Given the description of an element on the screen output the (x, y) to click on. 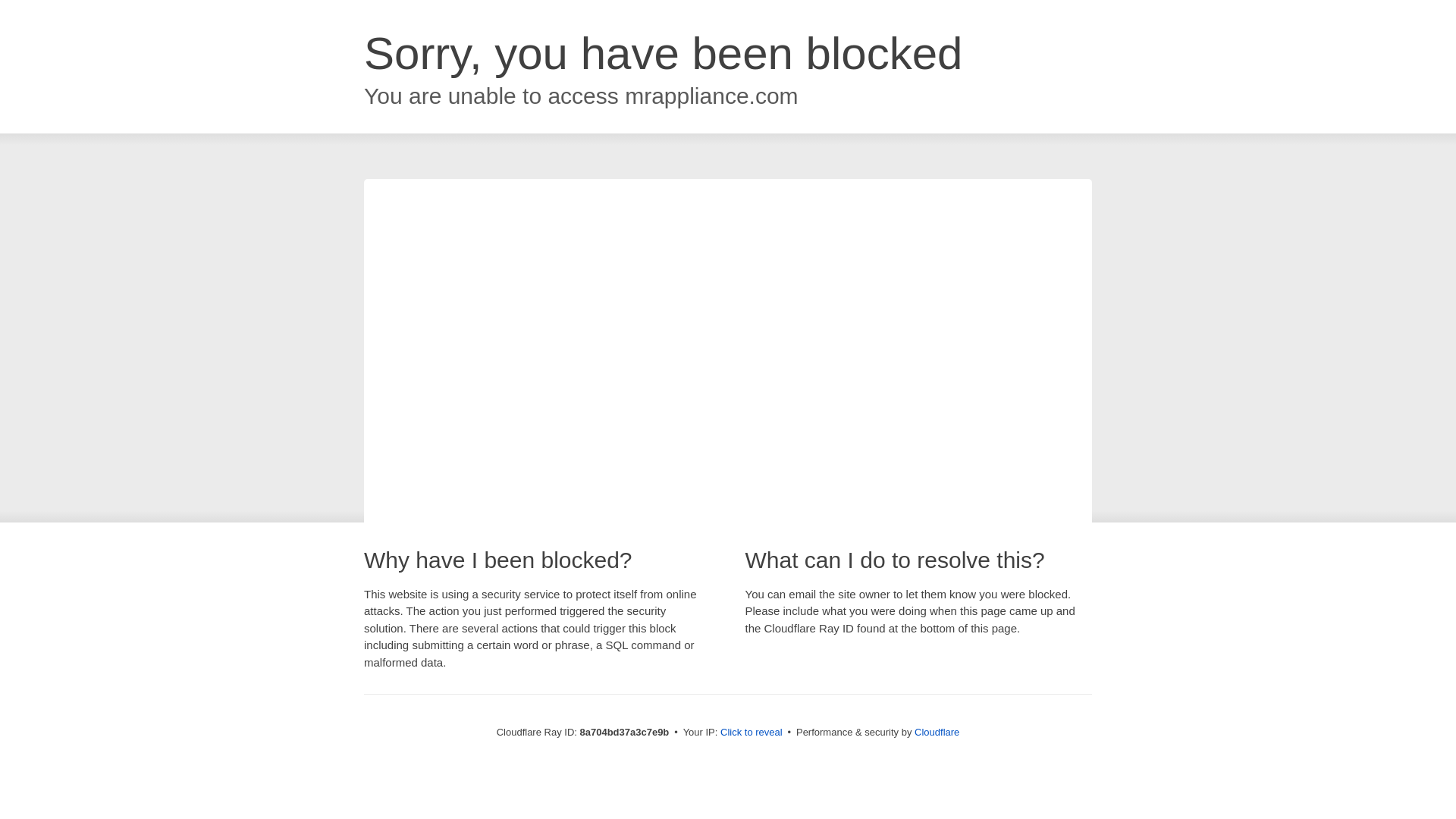
Click to reveal (751, 732)
Cloudflare (936, 731)
